Given the description of an element on the screen output the (x, y) to click on. 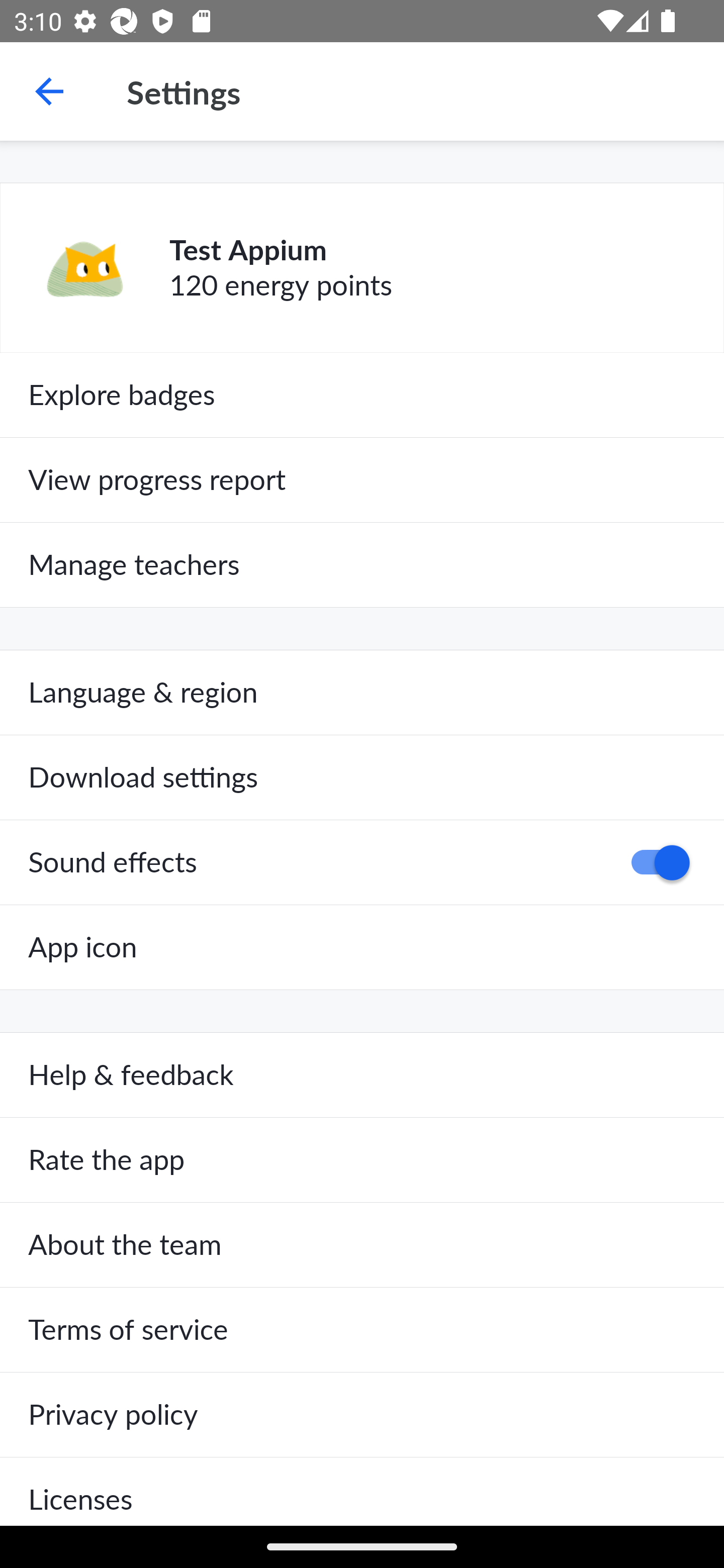
Navigate up (49, 91)
Explore badges (362, 394)
View progress report (362, 479)
Manage teachers (362, 565)
Language & region (362, 692)
Download settings (362, 777)
ON (653, 861)
App icon (362, 946)
Help & feedback (362, 1075)
Rate the app (362, 1159)
About the team (362, 1244)
Terms of service (362, 1329)
Privacy policy (362, 1414)
Licenses (362, 1490)
